Given the description of an element on the screen output the (x, y) to click on. 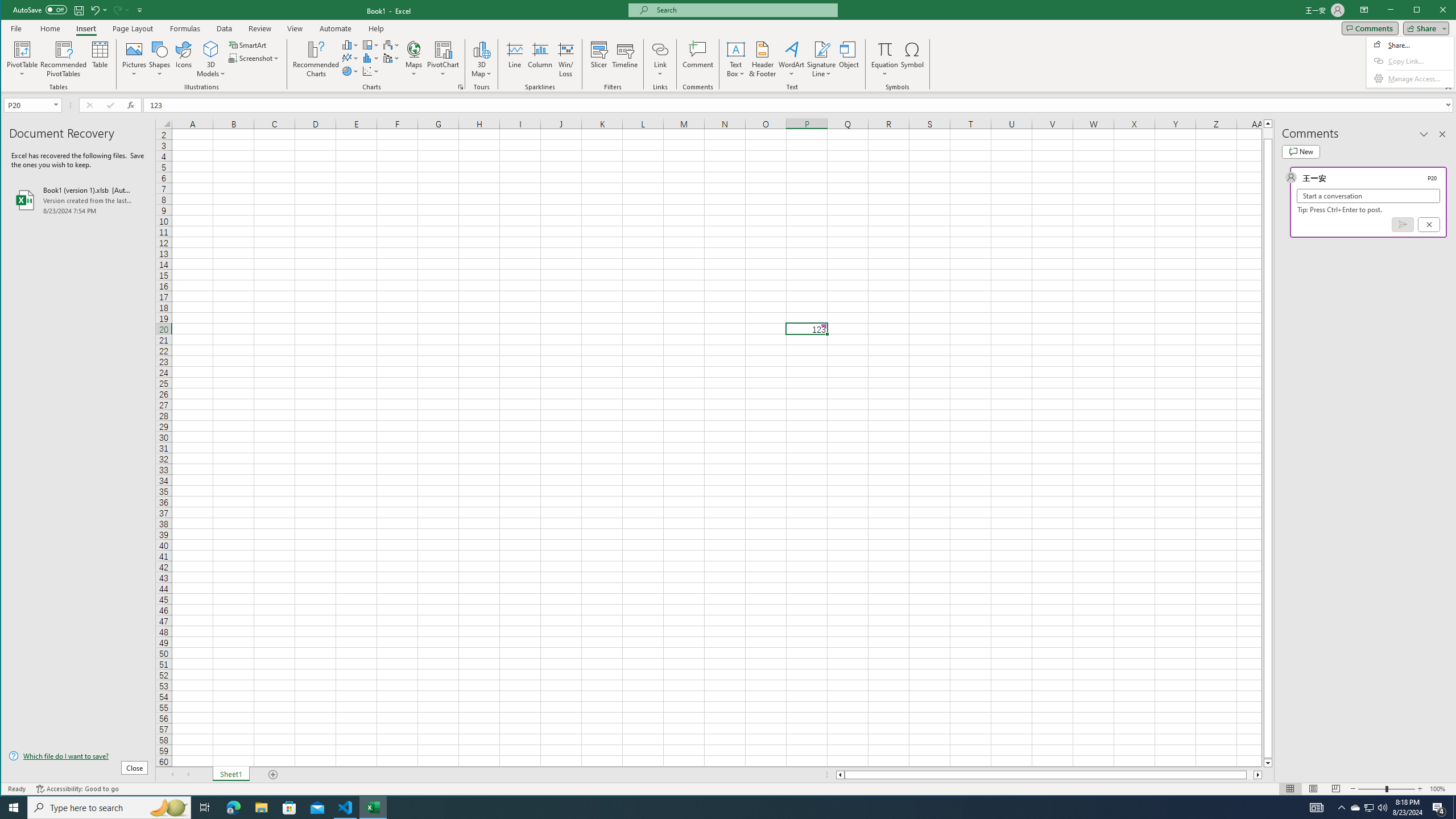
Q2790: 100% (1382, 807)
Cancel (1428, 224)
Task View (204, 807)
Icons (183, 59)
Start (13, 807)
